Given the description of an element on the screen output the (x, y) to click on. 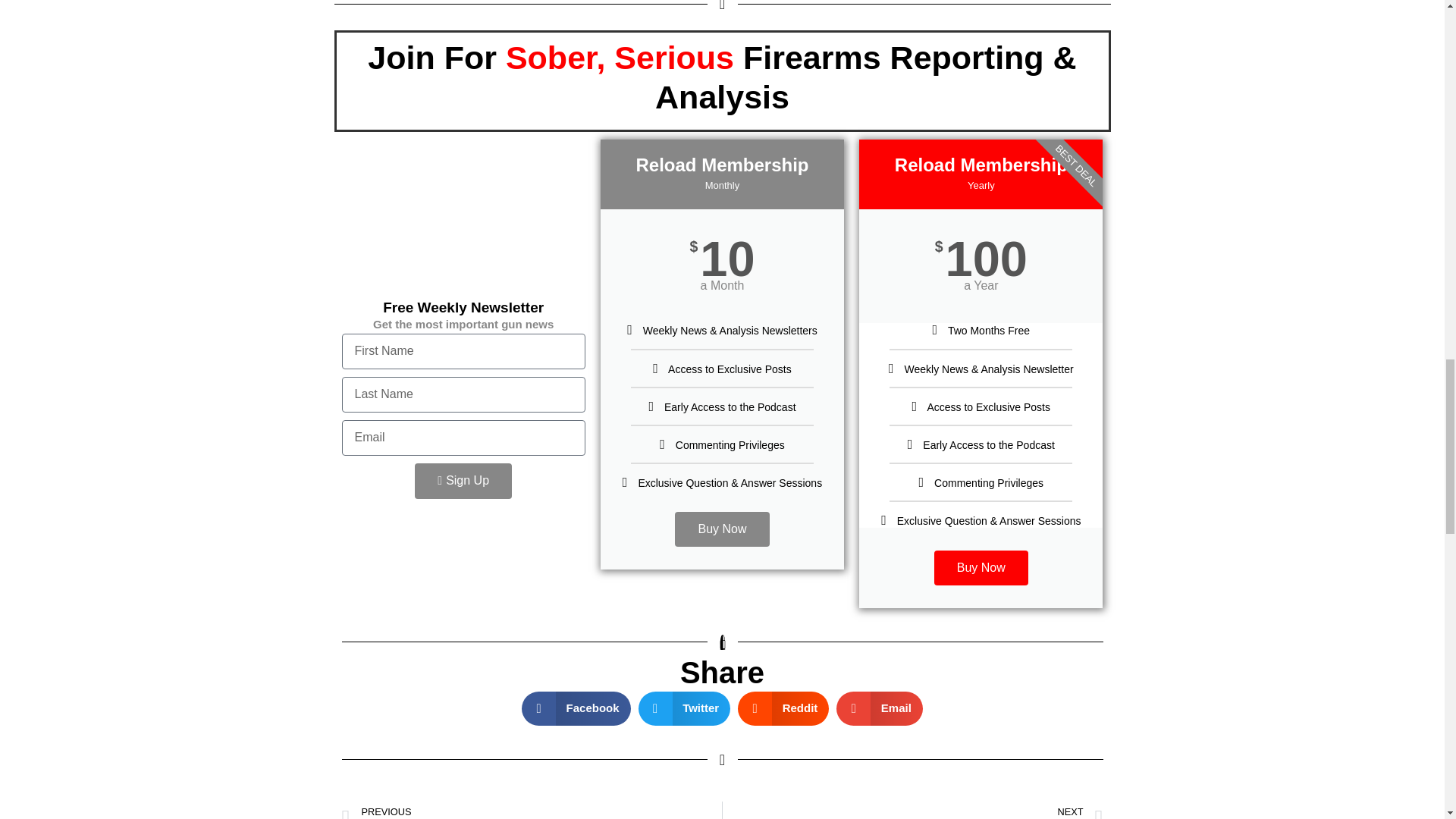
Buy Now (980, 567)
Buy Now (721, 529)
Sign Up (463, 480)
